Given the description of an element on the screen output the (x, y) to click on. 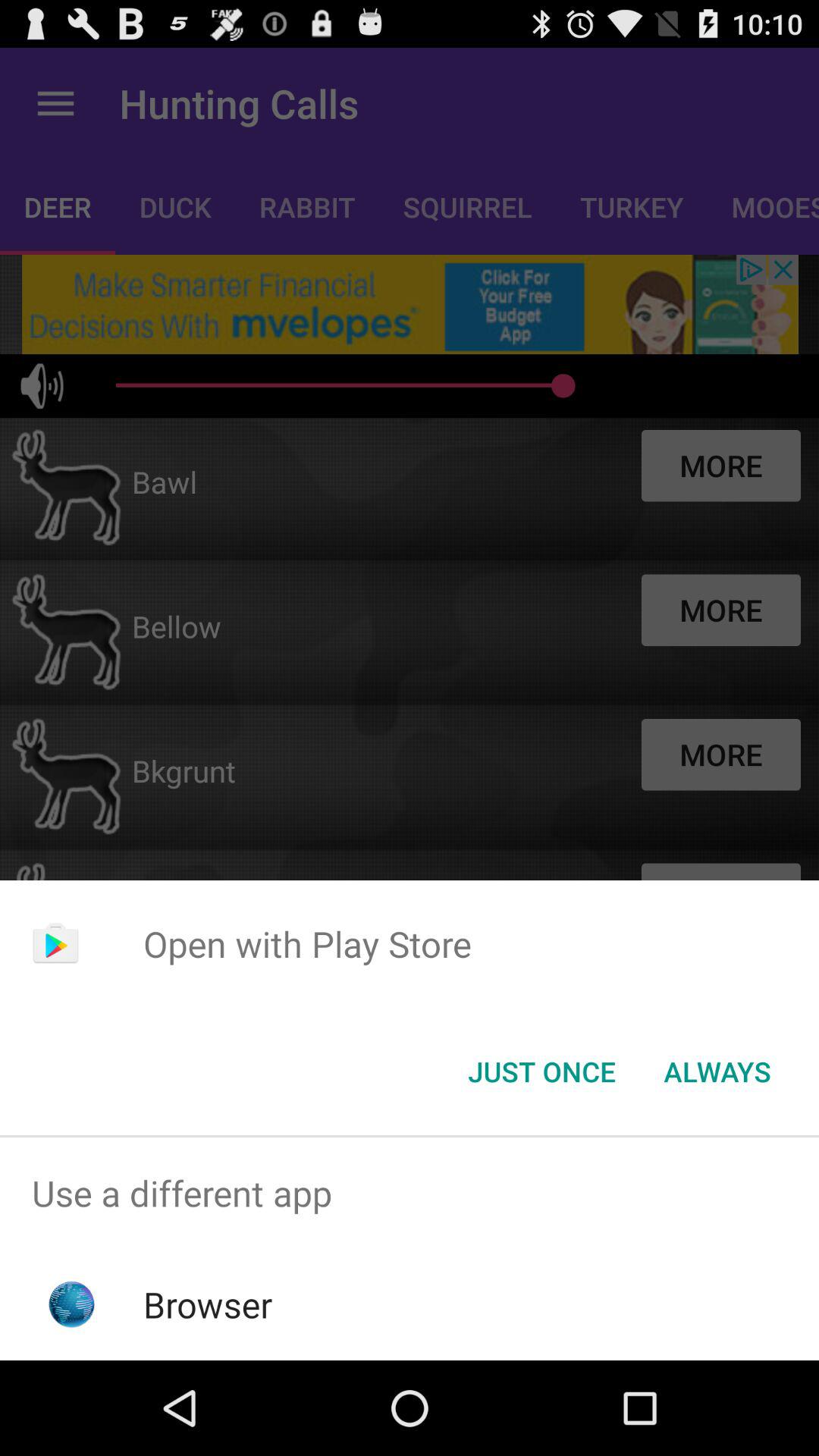
scroll to the just once button (541, 1071)
